Given the description of an element on the screen output the (x, y) to click on. 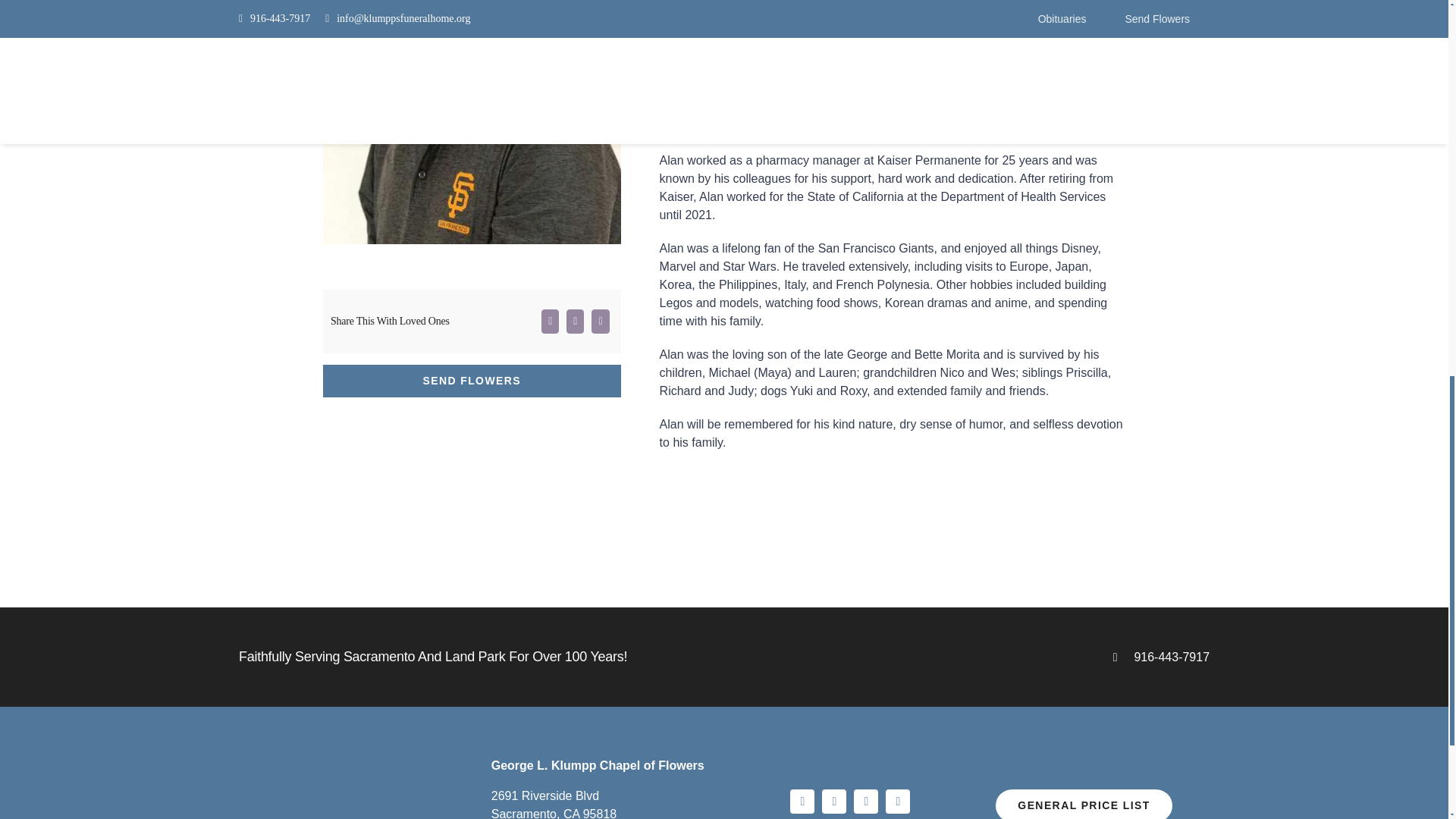
7973320 (472, 122)
Facebook (801, 801)
Yelp (897, 801)
LinkedIn (865, 801)
YouTube (833, 801)
